Given the description of an element on the screen output the (x, y) to click on. 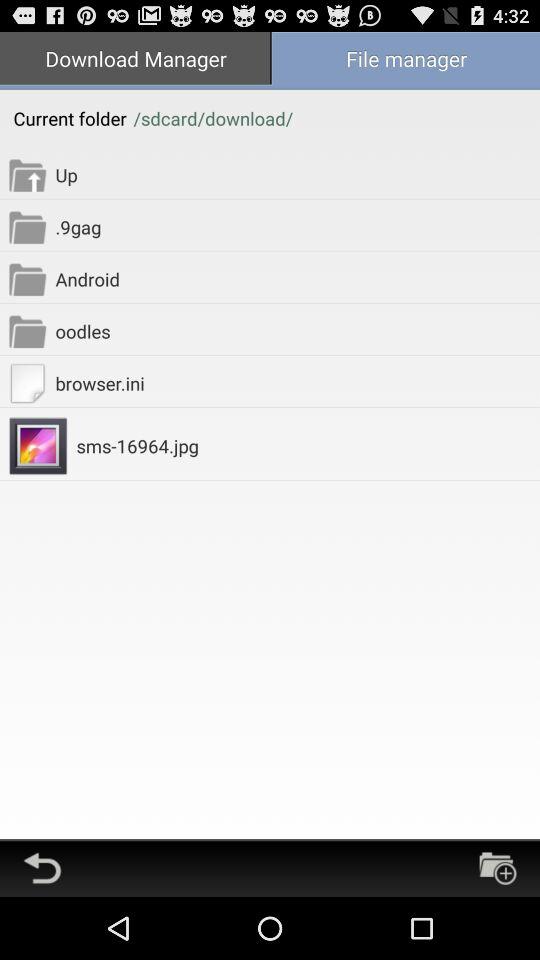
scroll to file manager icon (405, 60)
